Given the description of an element on the screen output the (x, y) to click on. 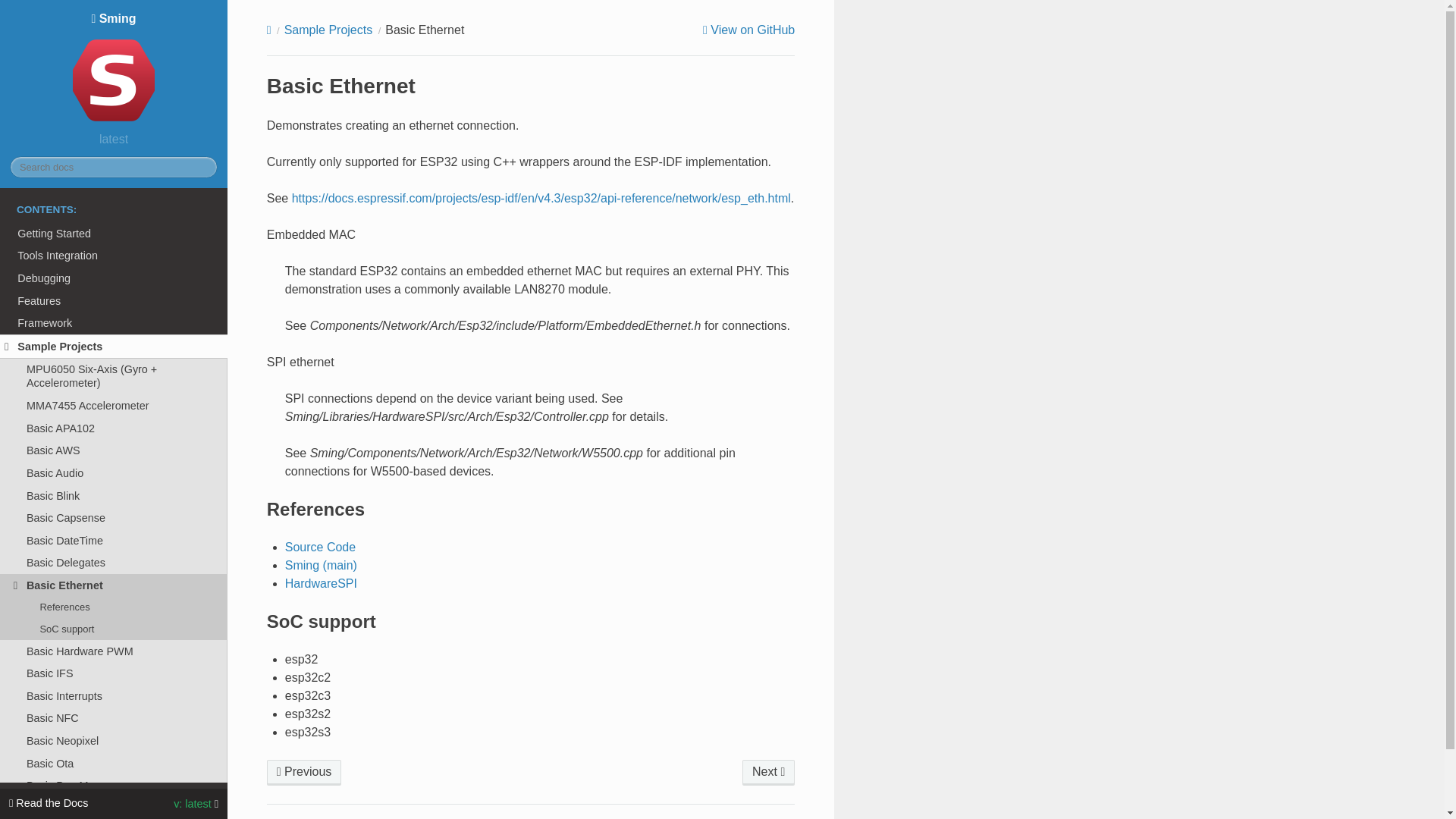
Getting Started (113, 232)
Basic Audio (113, 472)
Basic Ethernet (113, 585)
Basic Hardware PWM (113, 650)
Basic DateTime (113, 540)
Sample Projects (113, 346)
References (113, 607)
Basic AWS (113, 449)
Tools Integration (113, 255)
Basic Delegates (113, 563)
